Given the description of an element on the screen output the (x, y) to click on. 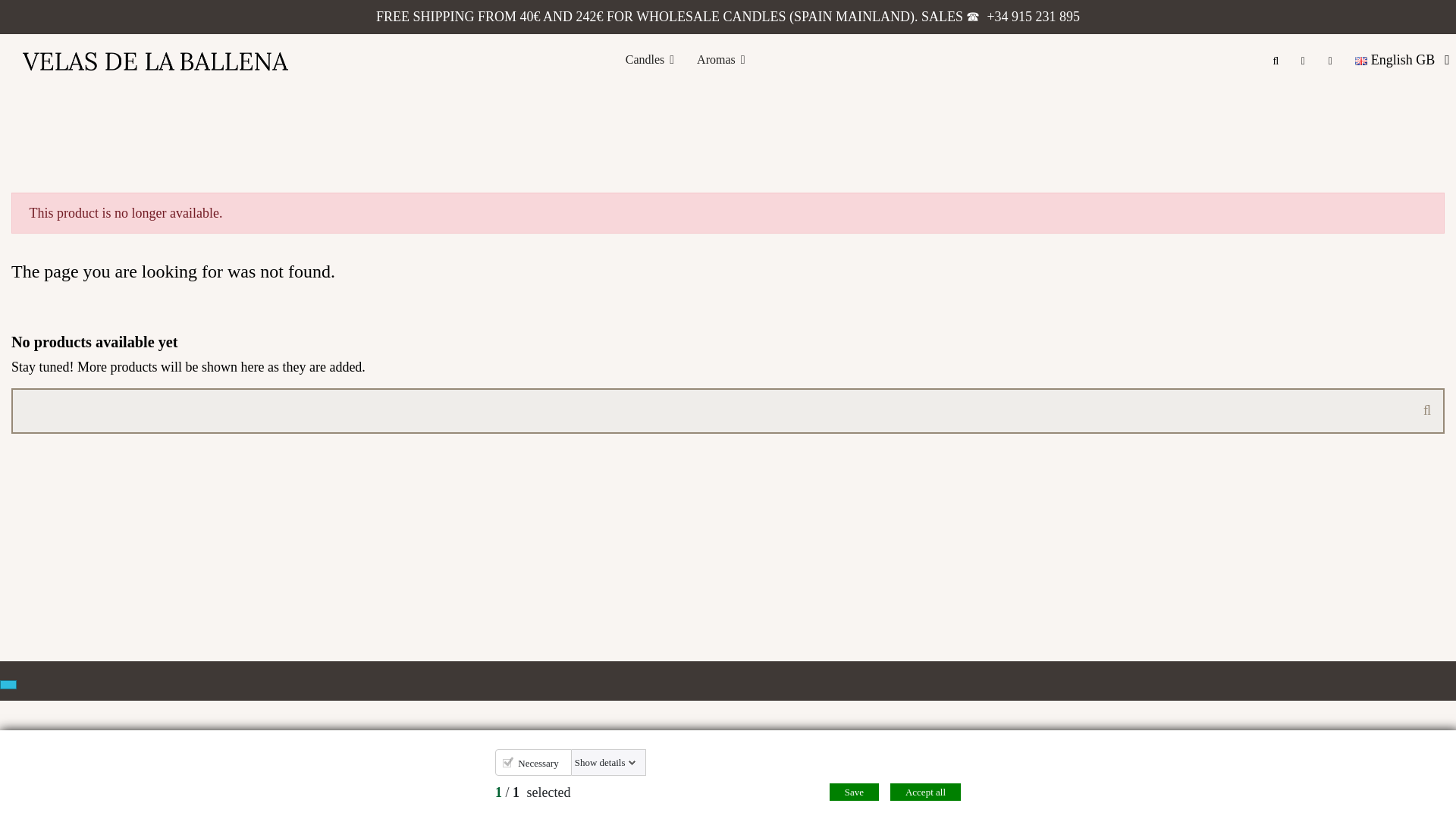
Aromas (720, 59)
Candles (649, 59)
